Given the description of an element on the screen output the (x, y) to click on. 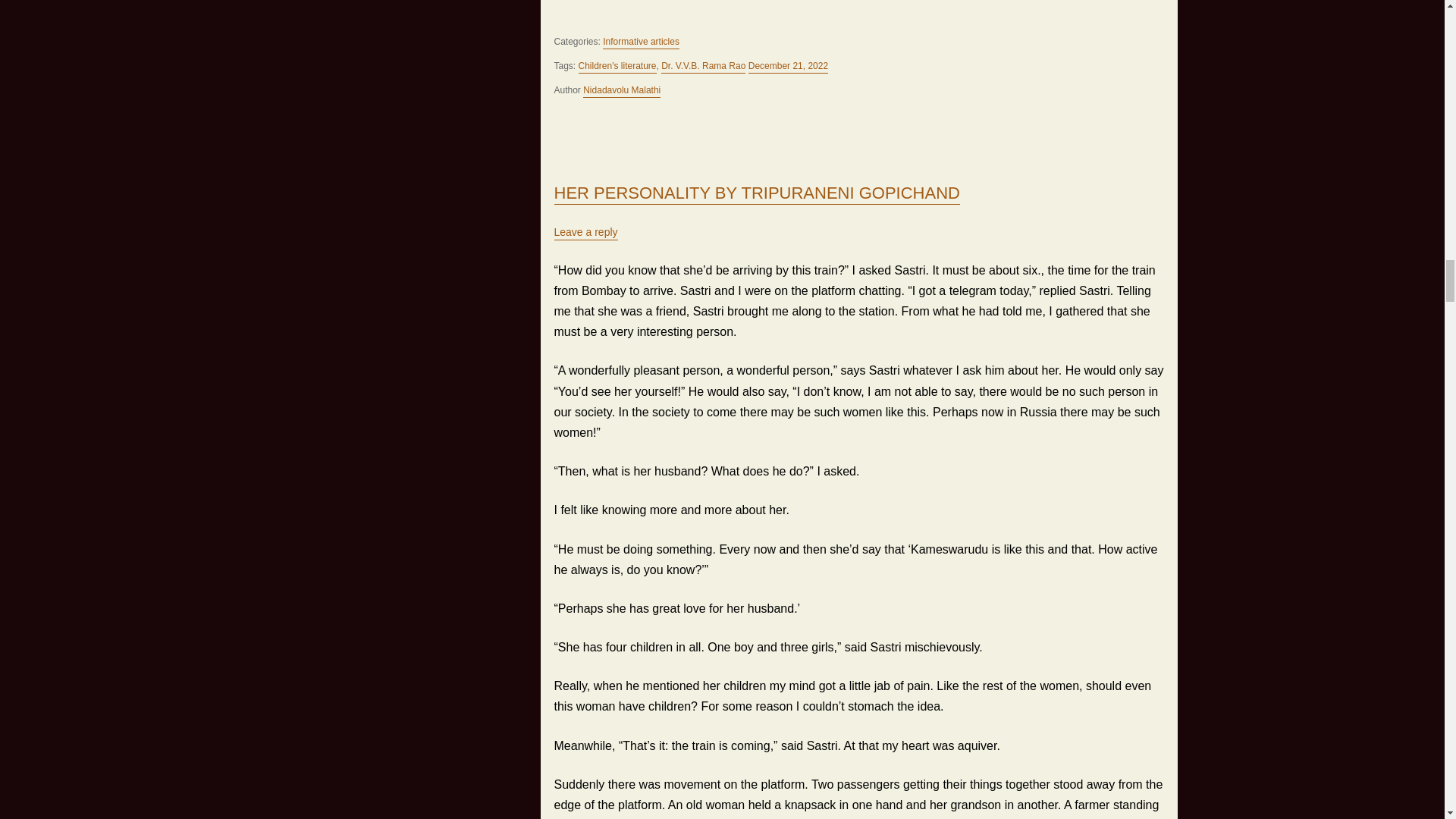
HER PERSONALITY BY TRIPURANENI GOPICHAND (756, 193)
Informative articles (640, 42)
Nidadavolu Malathi (622, 91)
Permalink to HER PERSONALITY  By Tripuraneni Gopichand (756, 193)
Dr. V.V.B. Rama Rao (703, 66)
Leave a reply (585, 233)
View all posts by Nidadavolu Malathi (622, 91)
December 21, 2022 (788, 66)
10:22 pm (788, 66)
Children's literature (617, 66)
